Given the description of an element on the screen output the (x, y) to click on. 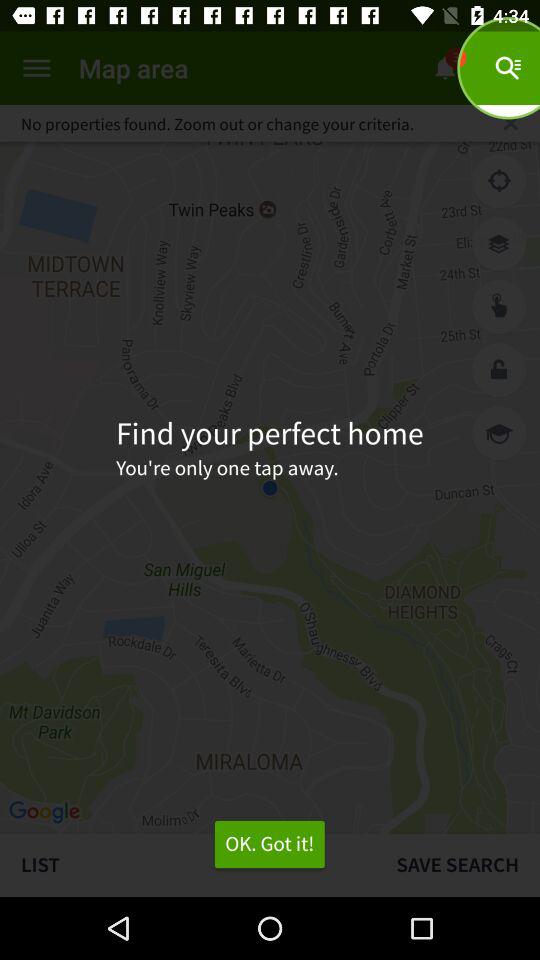
show layers (499, 244)
